Given the description of an element on the screen output the (x, y) to click on. 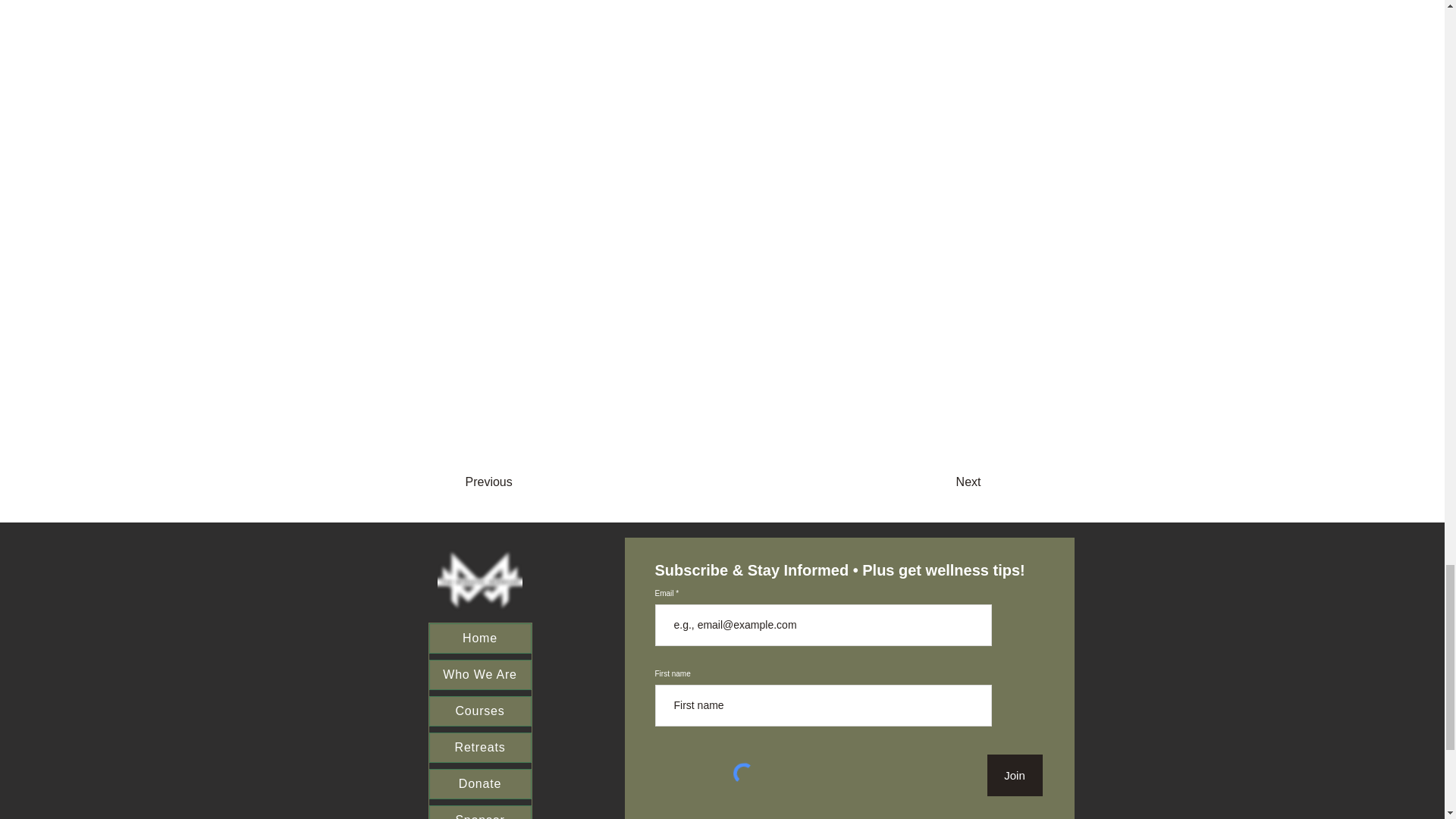
Join (1014, 775)
Who We Are (480, 675)
Previous (526, 481)
Retreats (480, 747)
Sponsor (480, 812)
Courses (480, 711)
Donate (480, 784)
Next (928, 481)
Home (480, 638)
